Given the description of an element on the screen output the (x, y) to click on. 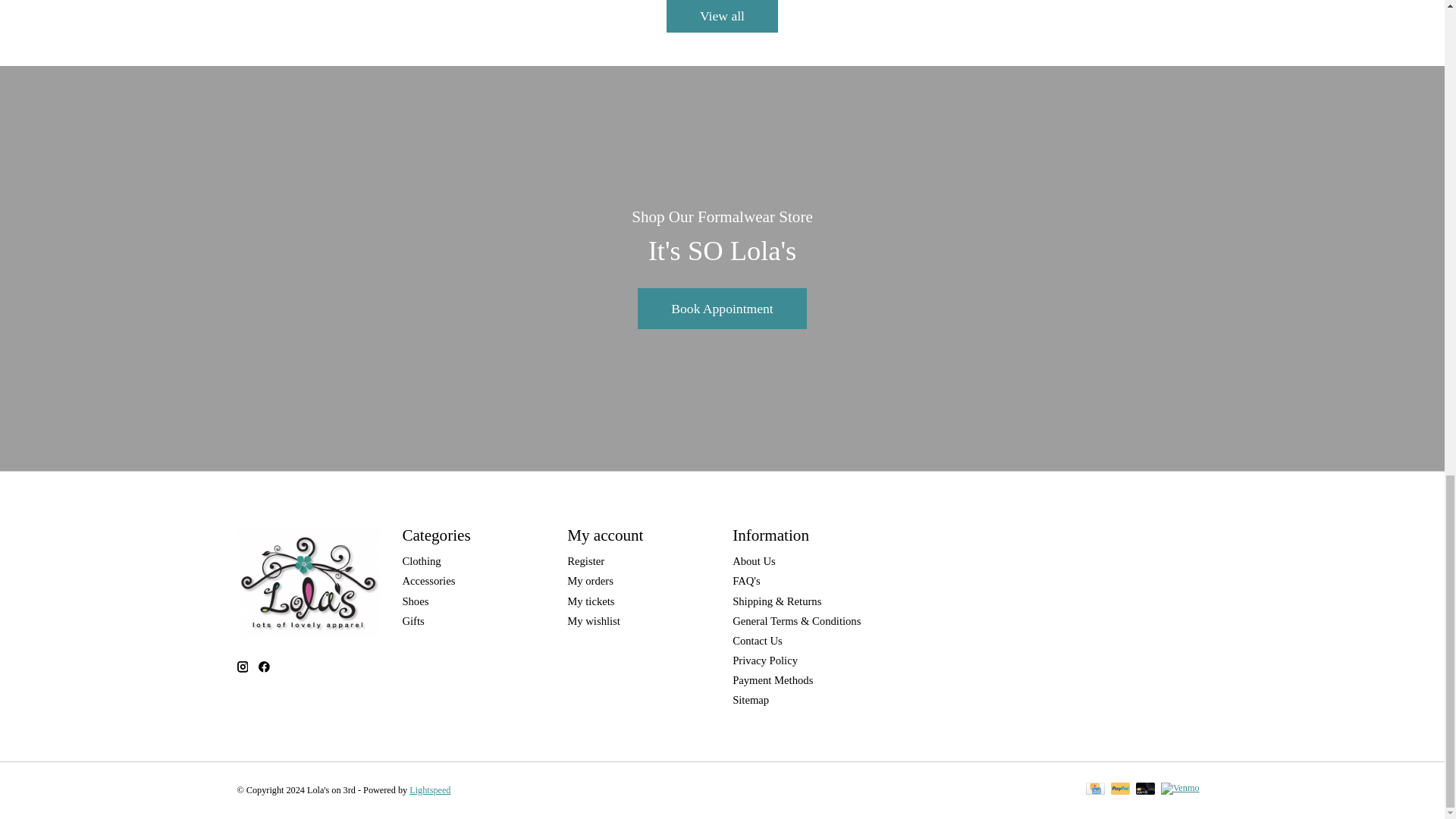
Register (585, 561)
